Given the description of an element on the screen output the (x, y) to click on. 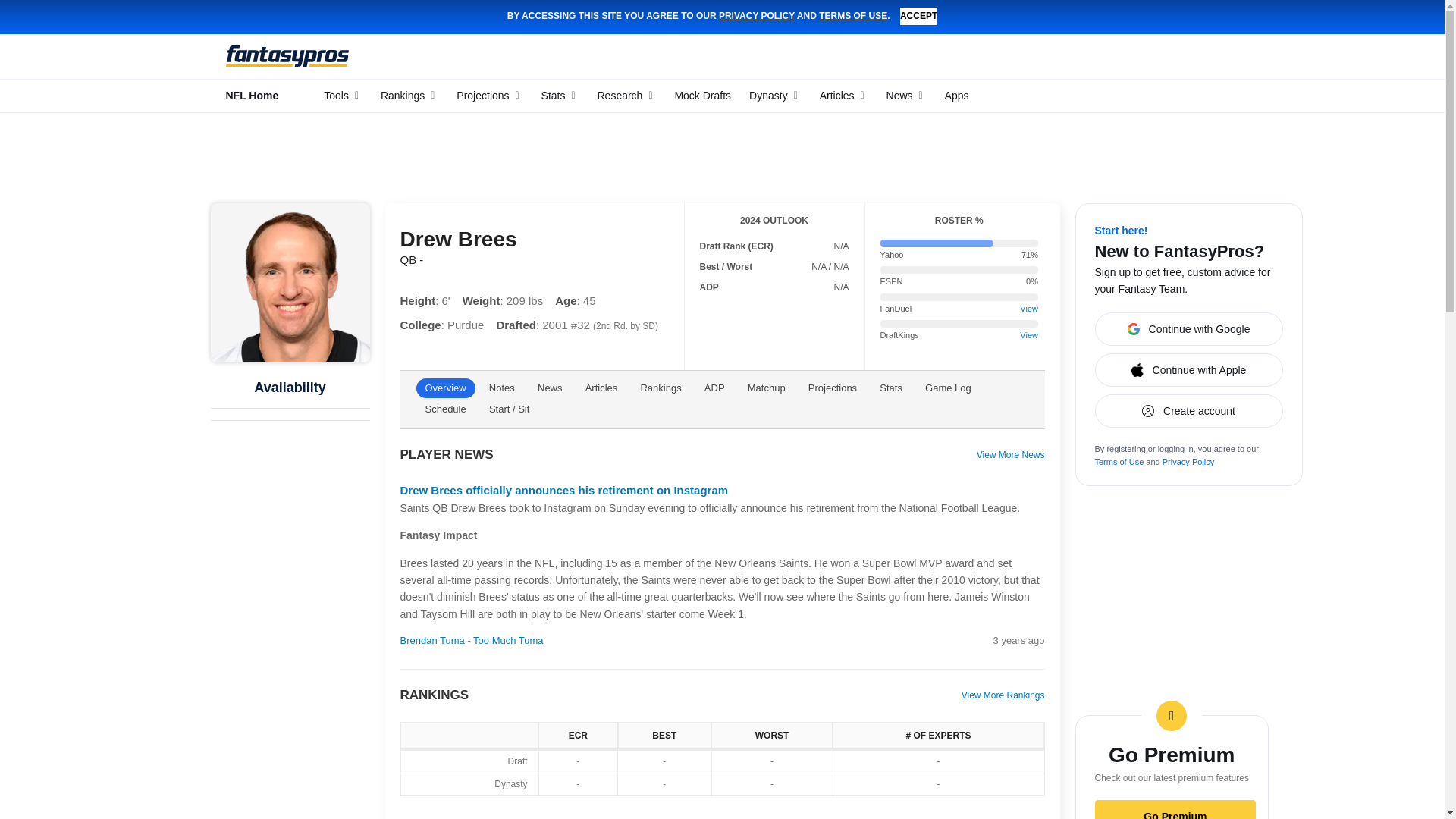
Matchup (766, 353)
News (550, 353)
Privacy Policy (1187, 426)
Create account (1188, 376)
Notes (502, 353)
Import Your Team (271, 445)
Continue with Google (1188, 294)
Overview (444, 353)
View (1029, 273)
View More Rankings (1002, 810)
